Given the description of an element on the screen output the (x, y) to click on. 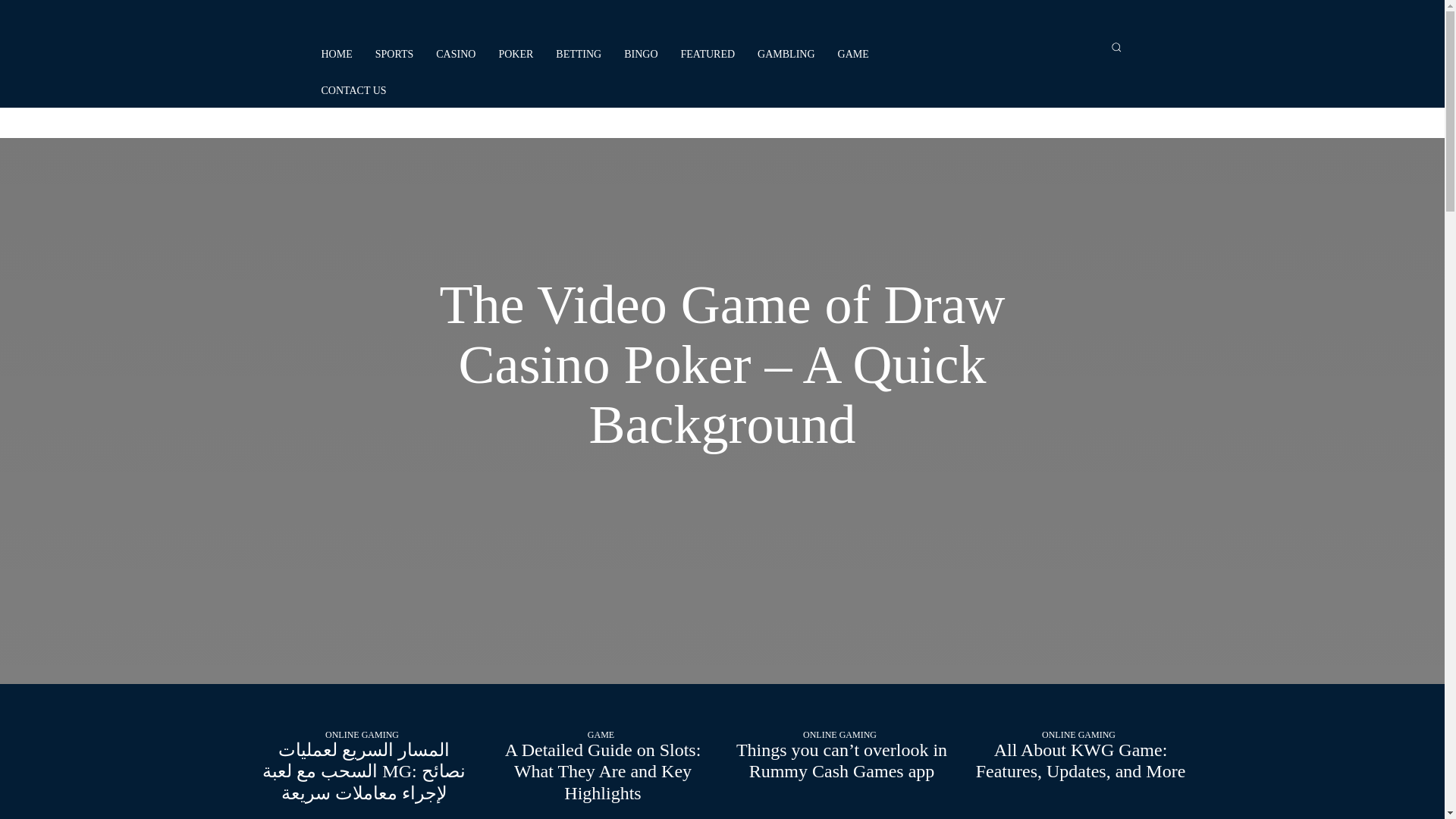
GIANNA (747, 122)
Gianna (692, 122)
SPORTS (394, 54)
BETTING (578, 54)
CONTACT US (353, 90)
HOME (336, 54)
BINGO (640, 54)
GAME (853, 54)
A Detailed Guide on Slots: What They Are and Key Highlights (603, 771)
GAMBLING (786, 54)
